Given the description of an element on the screen output the (x, y) to click on. 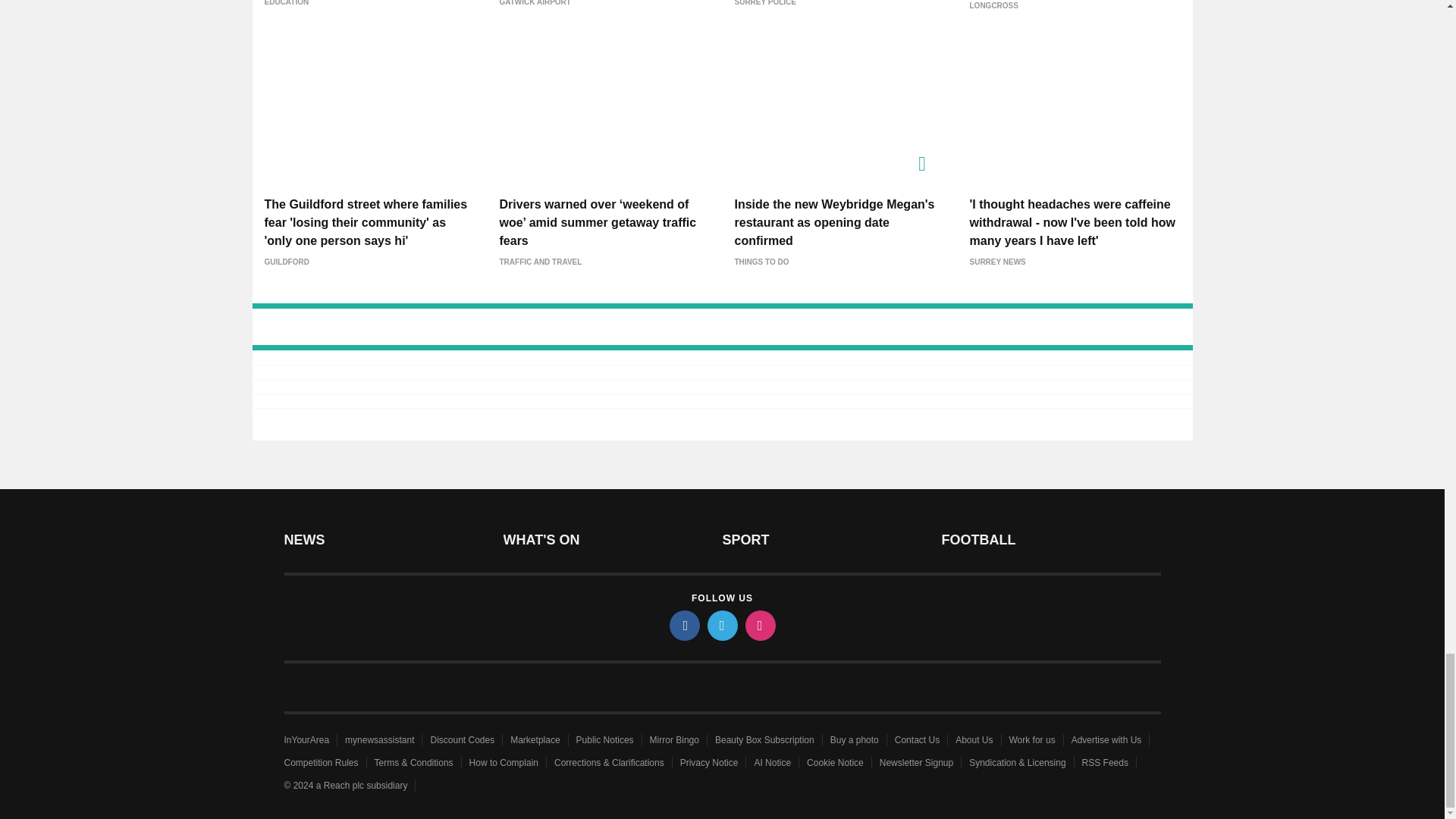
facebook (683, 625)
instagram (759, 625)
twitter (721, 625)
